Given the description of an element on the screen output the (x, y) to click on. 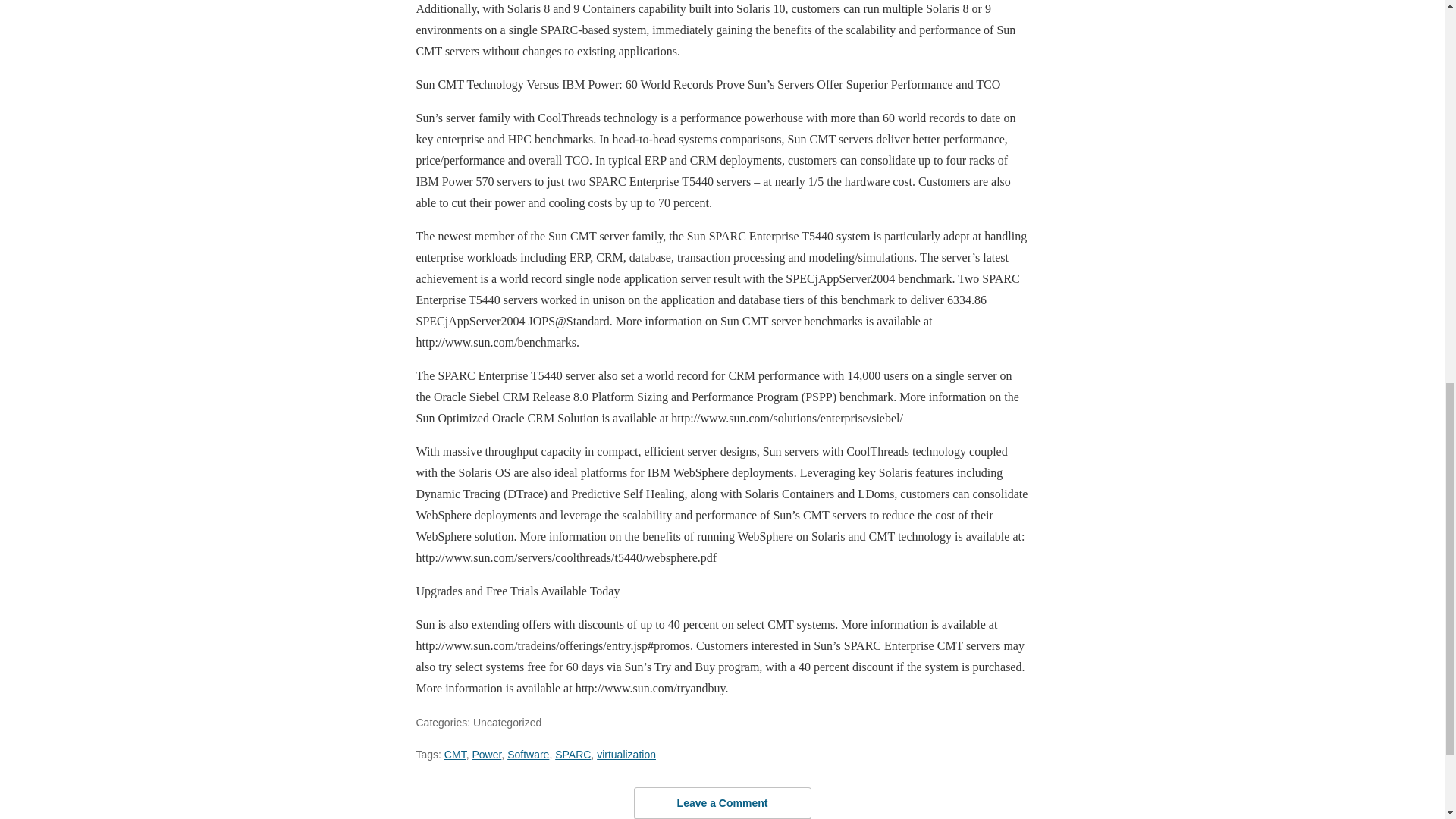
Leave a Comment (721, 803)
CMT (454, 754)
SPARC (572, 754)
virtualization (626, 754)
Power (485, 754)
Software (527, 754)
